Given the description of an element on the screen output the (x, y) to click on. 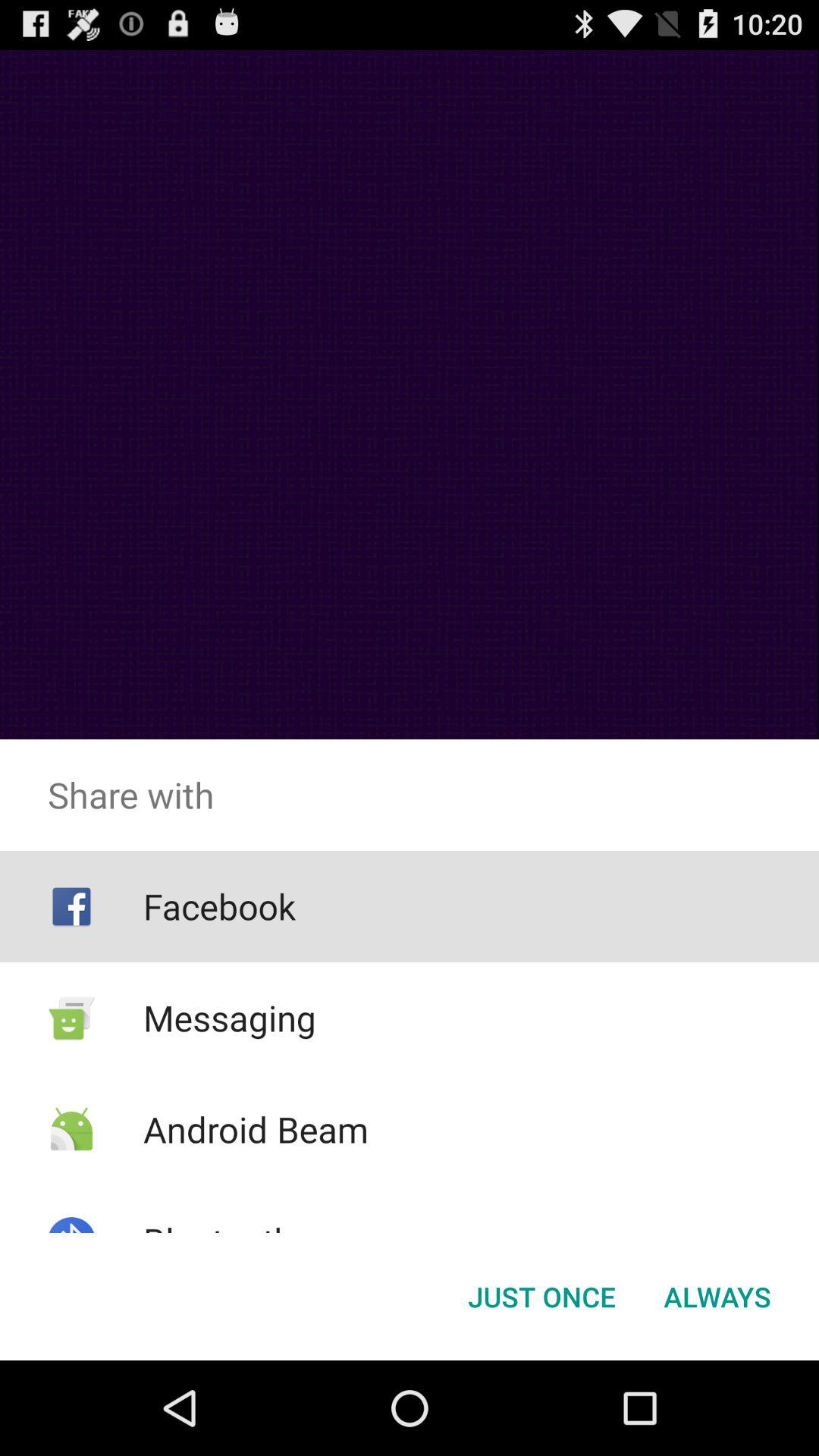
open the button at the bottom right corner (717, 1296)
